Given the description of an element on the screen output the (x, y) to click on. 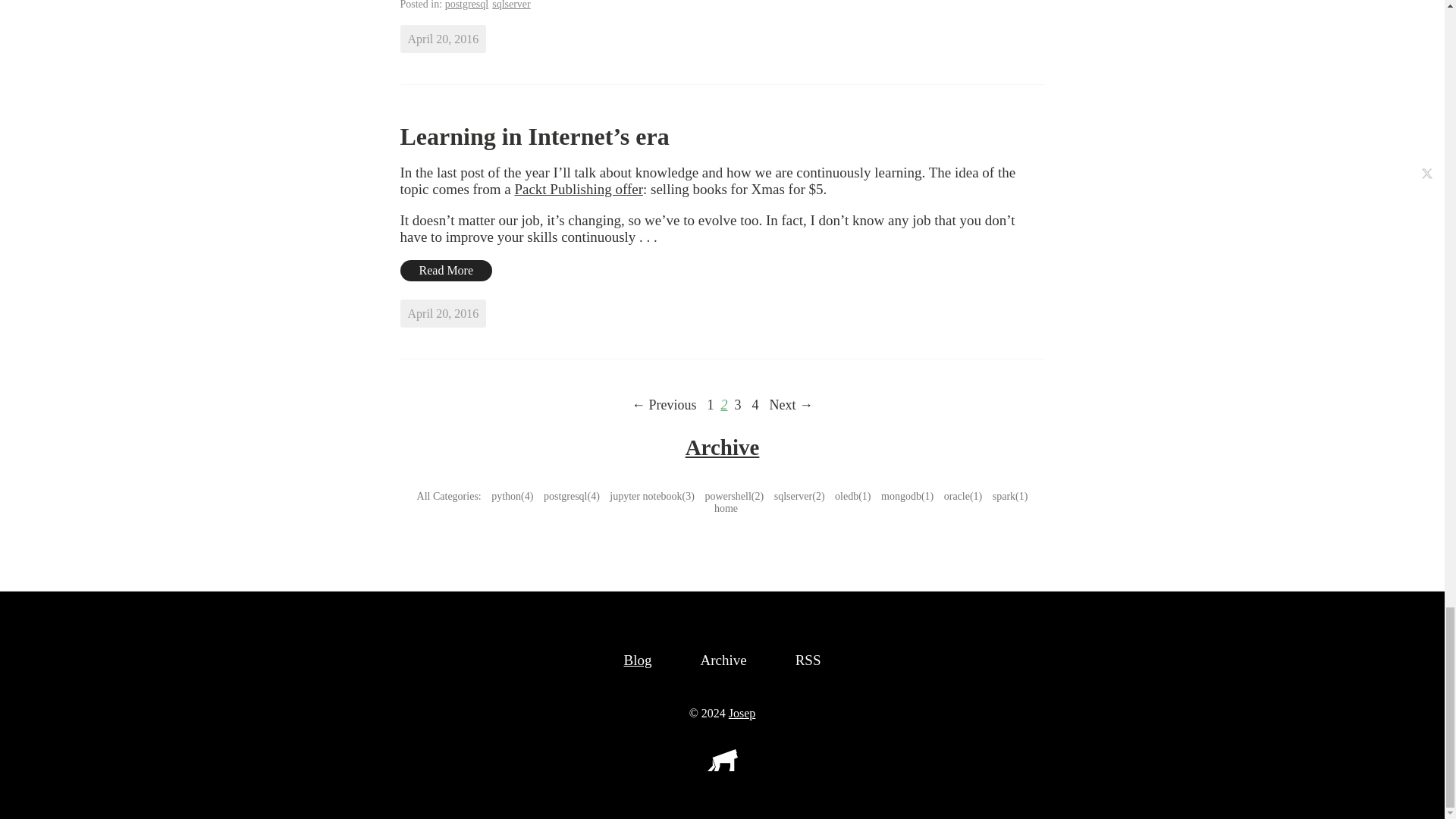
postgresql (467, 5)
sqlserver (511, 5)
Archive (722, 446)
Read More (446, 270)
Proudly Published With Silvrback Blog (721, 766)
Packt Publishing offer (578, 188)
